Given the description of an element on the screen output the (x, y) to click on. 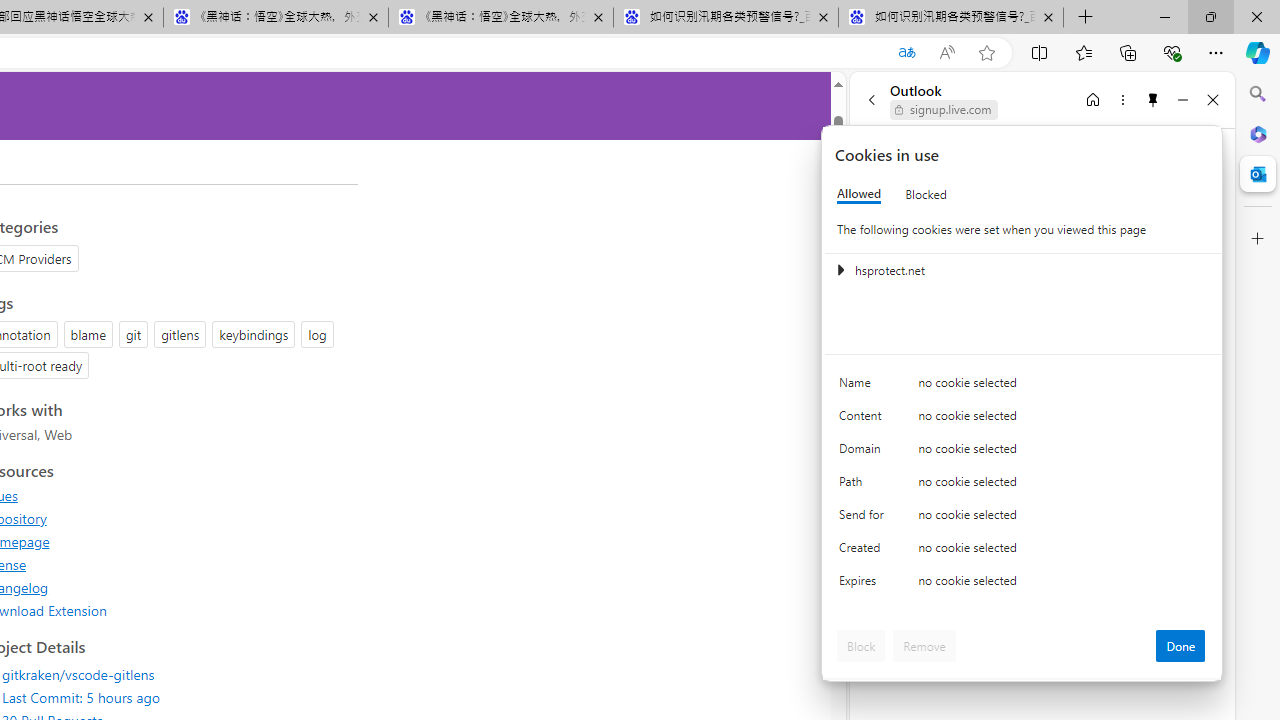
Done (1179, 645)
Class: c0153 c0157 c0154 (1023, 386)
Send for (864, 518)
Class: c0153 c0157 (1023, 584)
Domain (864, 452)
Name (864, 387)
Remove (924, 645)
Allowed (859, 193)
Blocked (925, 193)
no cookie selected (1062, 585)
Path (864, 485)
Created (864, 552)
Content (864, 420)
Expires (864, 585)
Block (861, 645)
